Given the description of an element on the screen output the (x, y) to click on. 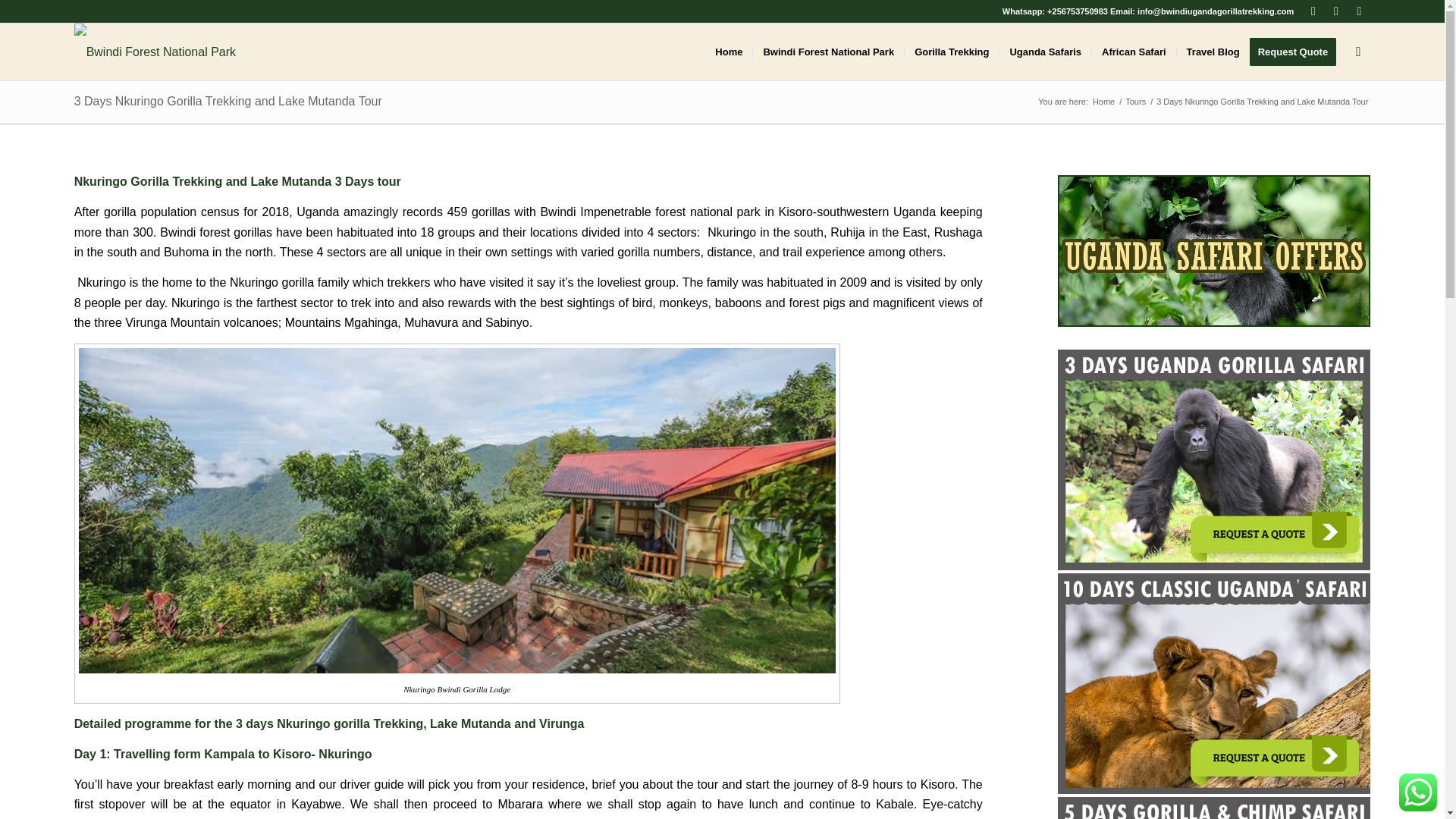
Twitter (1312, 11)
Gorilla Trekking (951, 51)
Instagram (1359, 11)
Dribbble (1335, 11)
WhatsApp us (1418, 792)
Tours (1135, 101)
Bwindi Forest National Park (1103, 101)
Bwindi Forest National Park (828, 51)
